Given the description of an element on the screen output the (x, y) to click on. 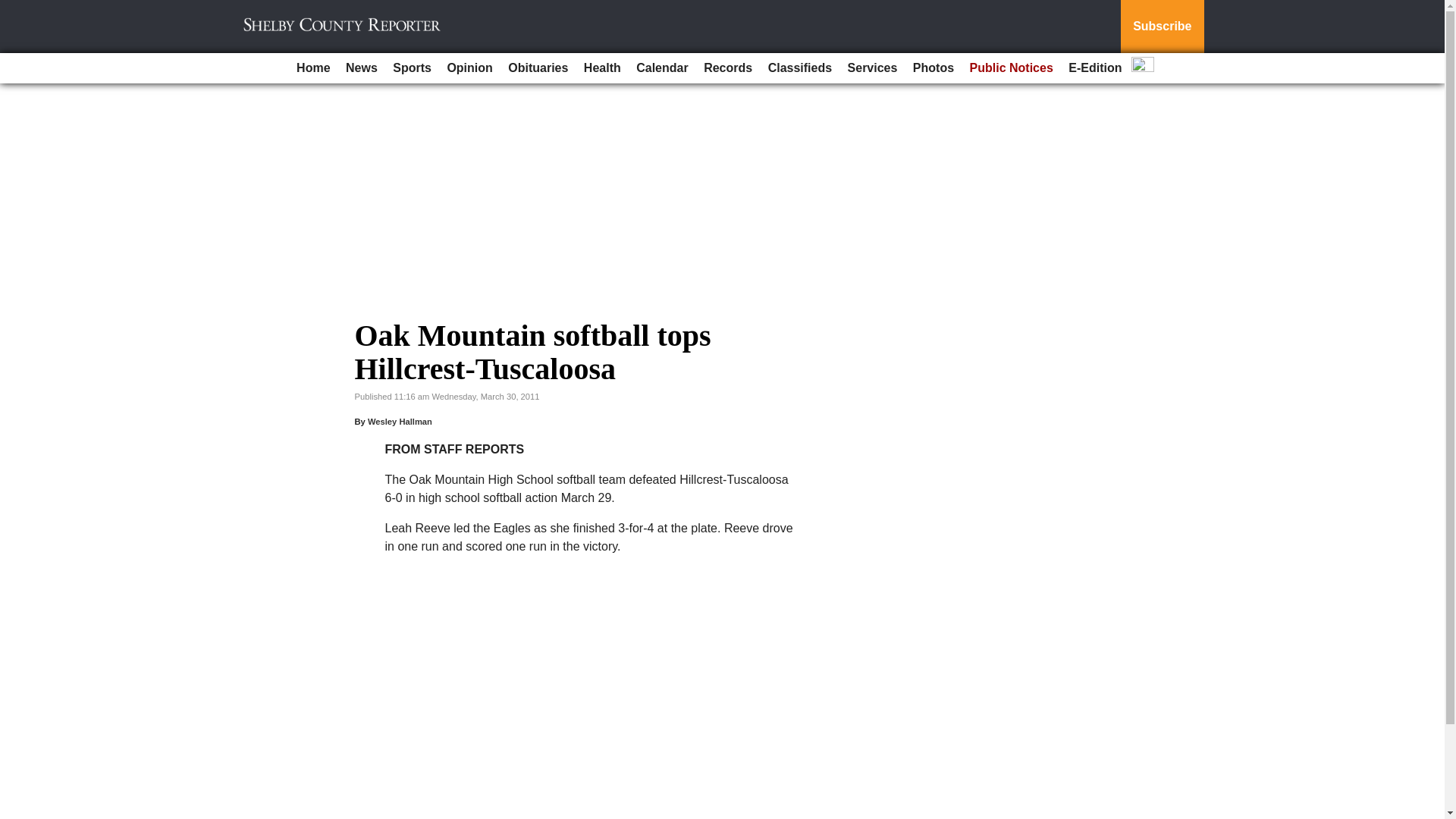
Subscribe (1162, 26)
Classifieds (799, 68)
Sports (412, 68)
Records (727, 68)
Opinion (469, 68)
Home (312, 68)
News (361, 68)
Obituaries (537, 68)
Health (602, 68)
Services (872, 68)
